Given the description of an element on the screen output the (x, y) to click on. 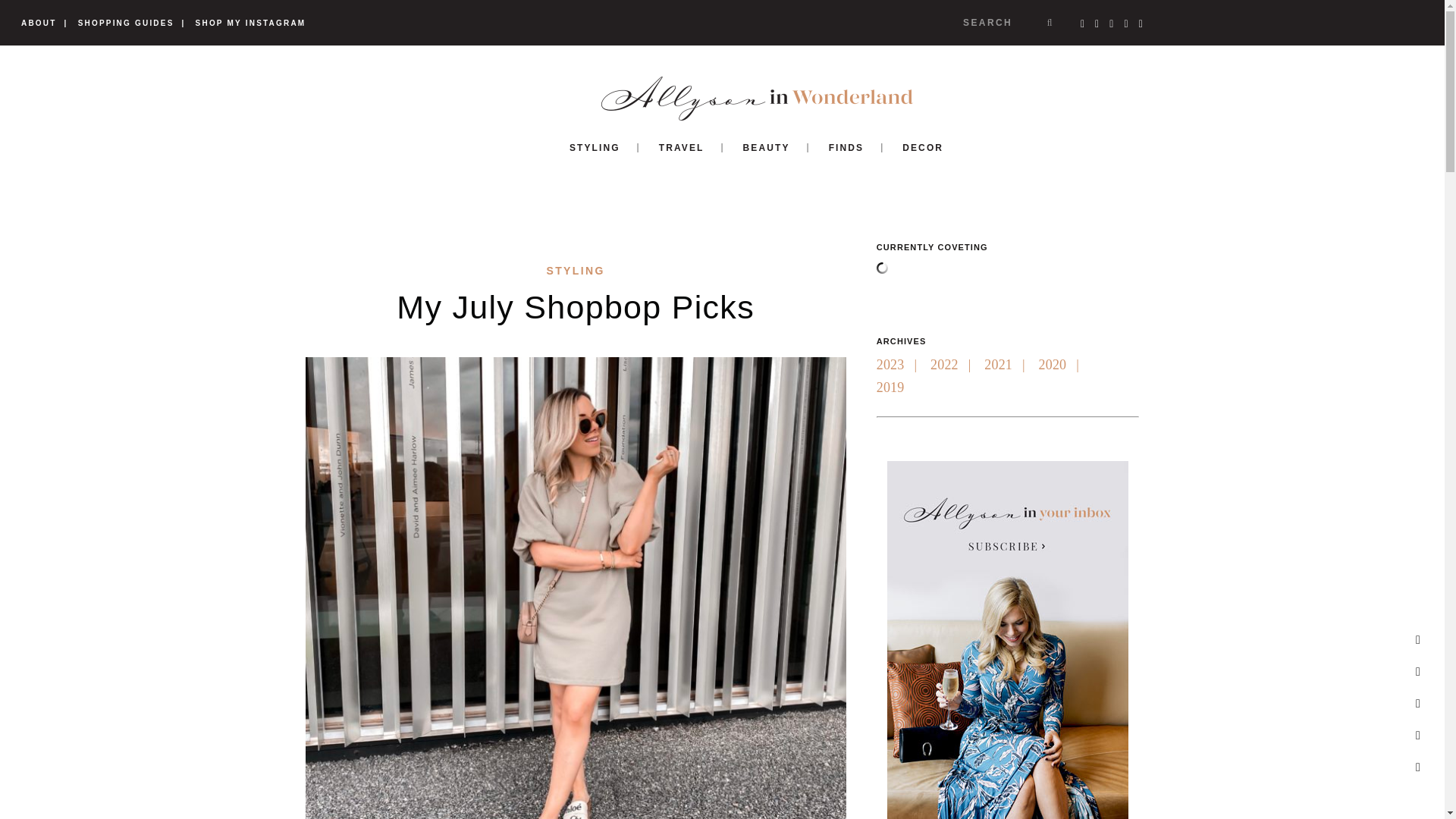
follow me on Instagram (1417, 735)
SEARCH (1008, 22)
STYLING (575, 270)
ABOUT (38, 22)
BEAUTY (766, 147)
follow me on Facebook (1417, 671)
SHOP MY INSTAGRAM (250, 22)
SHOPPING GUIDES (126, 22)
follow me on Pinterest (1417, 766)
FINDS (846, 147)
follow me on Twitter (1417, 703)
STYLING (595, 147)
TRAVEL (681, 147)
My July Shopbop Picks (575, 307)
Shopping Guides (126, 22)
